Given the description of an element on the screen output the (x, y) to click on. 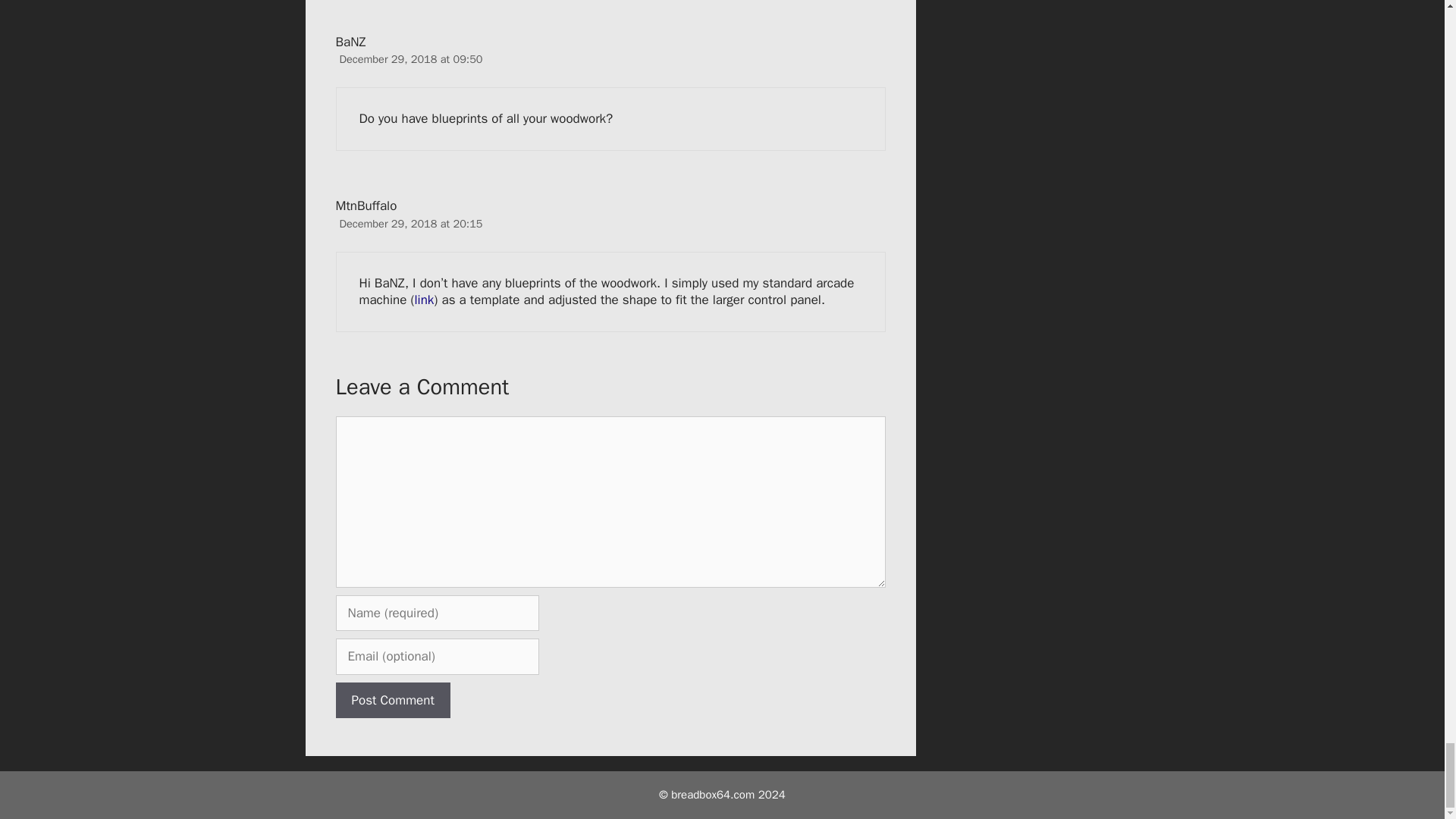
Post Comment (391, 700)
